Given the description of an element on the screen output the (x, y) to click on. 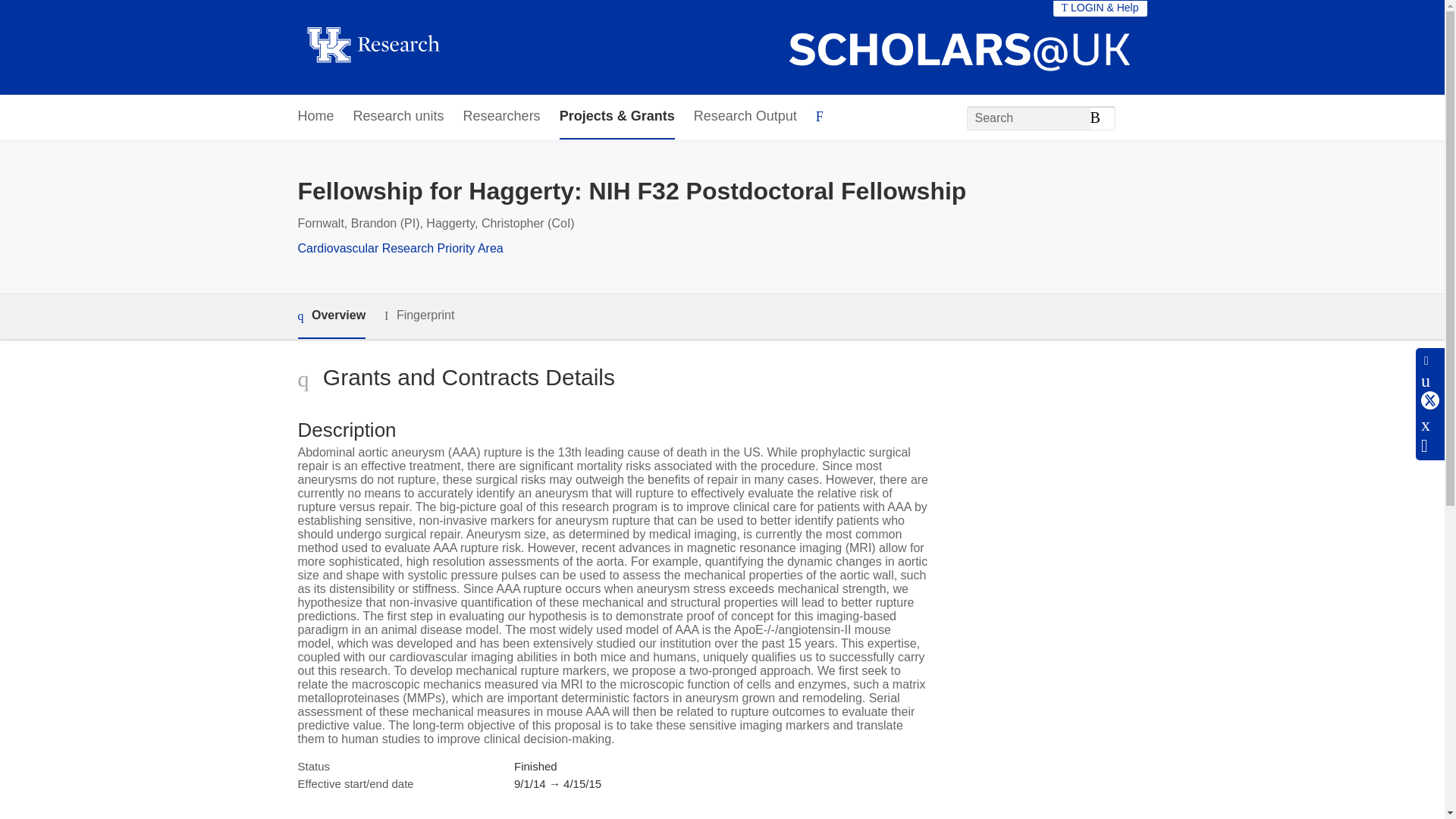
University of Kentucky Home (372, 47)
Cardiovascular Research Priority Area (399, 247)
Overview (331, 316)
Research units (398, 117)
Researchers (501, 117)
Research Output (745, 117)
Fingerprint (419, 315)
